Given the description of an element on the screen output the (x, y) to click on. 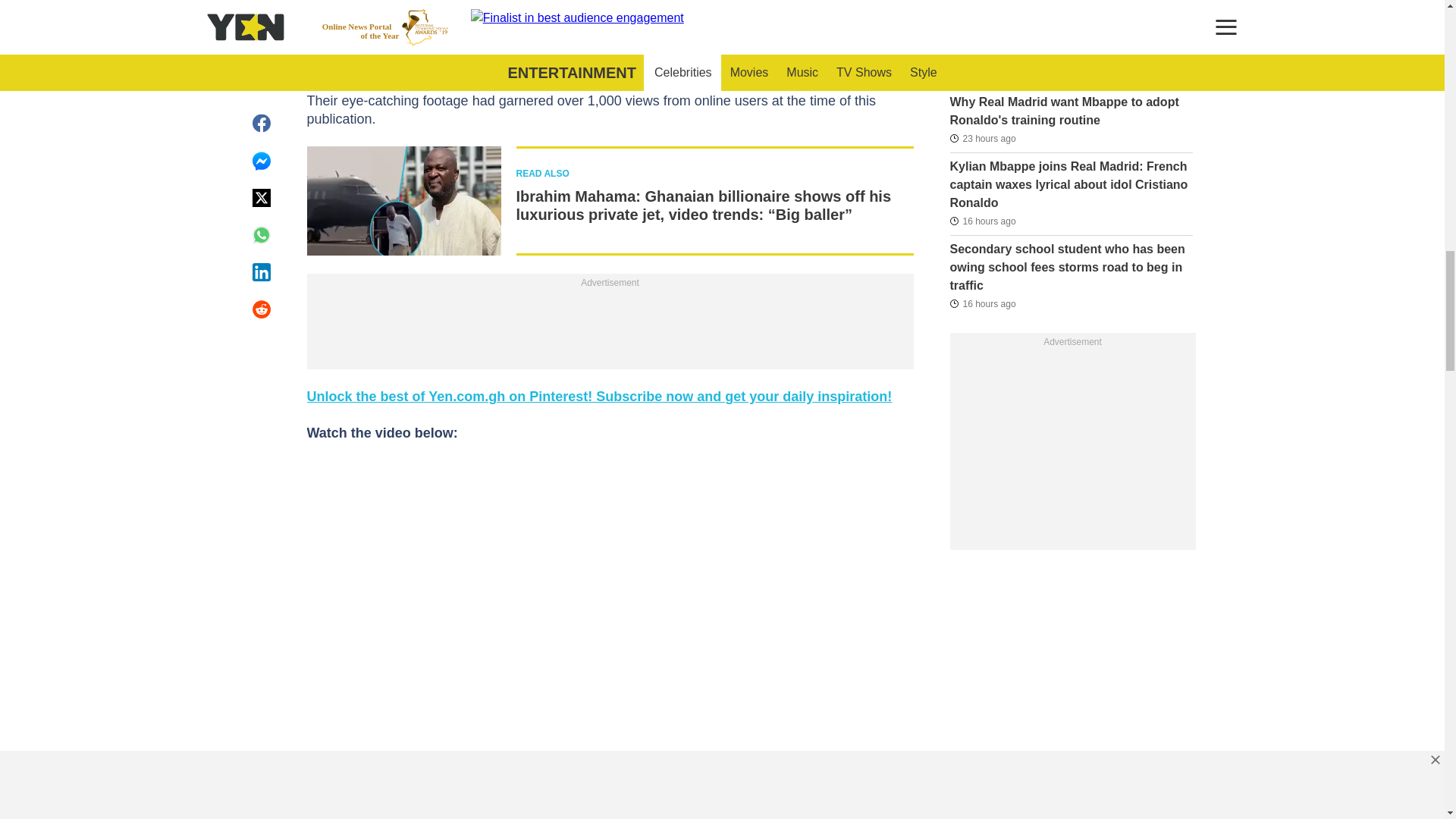
3rd party ad content (609, 4)
